Given the description of an element on the screen output the (x, y) to click on. 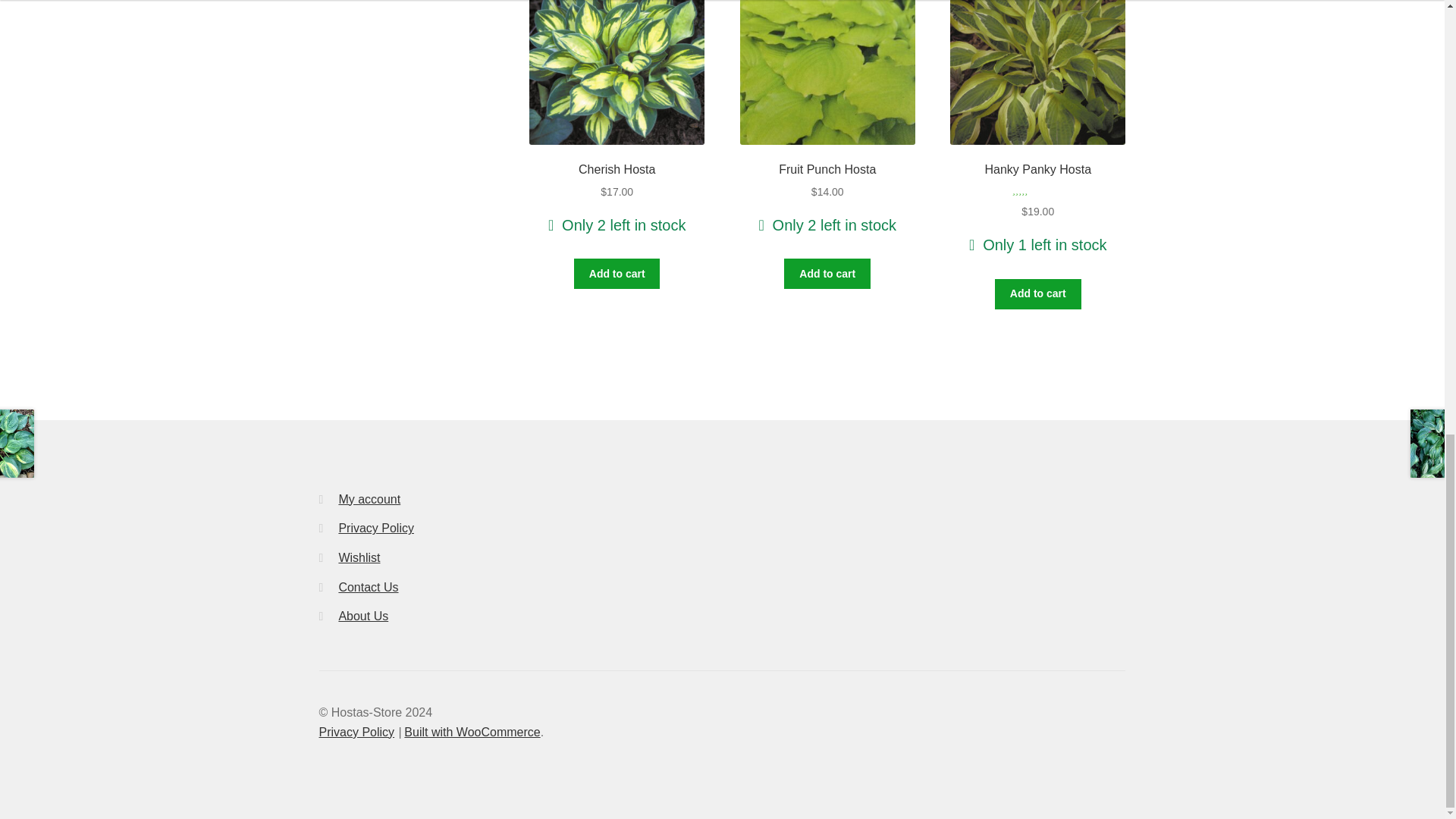
WooCommerce - The Best eCommerce Platform for WordPress (472, 731)
